Given the description of an element on the screen output the (x, y) to click on. 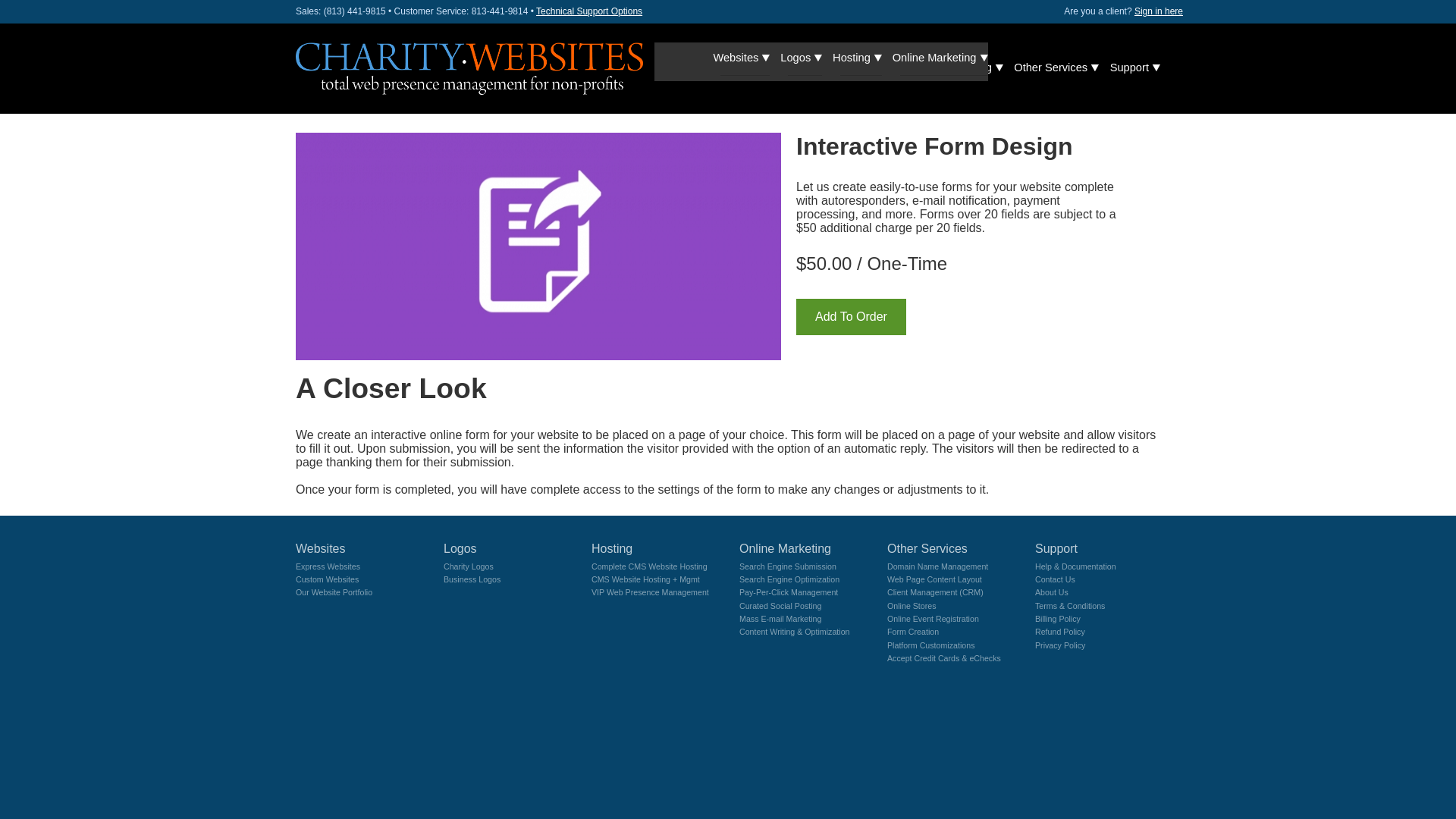
Return to the DonorPanel Homepage (469, 68)
Support (1133, 67)
Other Services (1054, 67)
Websites (753, 67)
Logos (812, 67)
Technical Support Options (588, 10)
Sign in here (1158, 10)
Hosting (870, 67)
Online Marketing (953, 67)
